Given the description of an element on the screen output the (x, y) to click on. 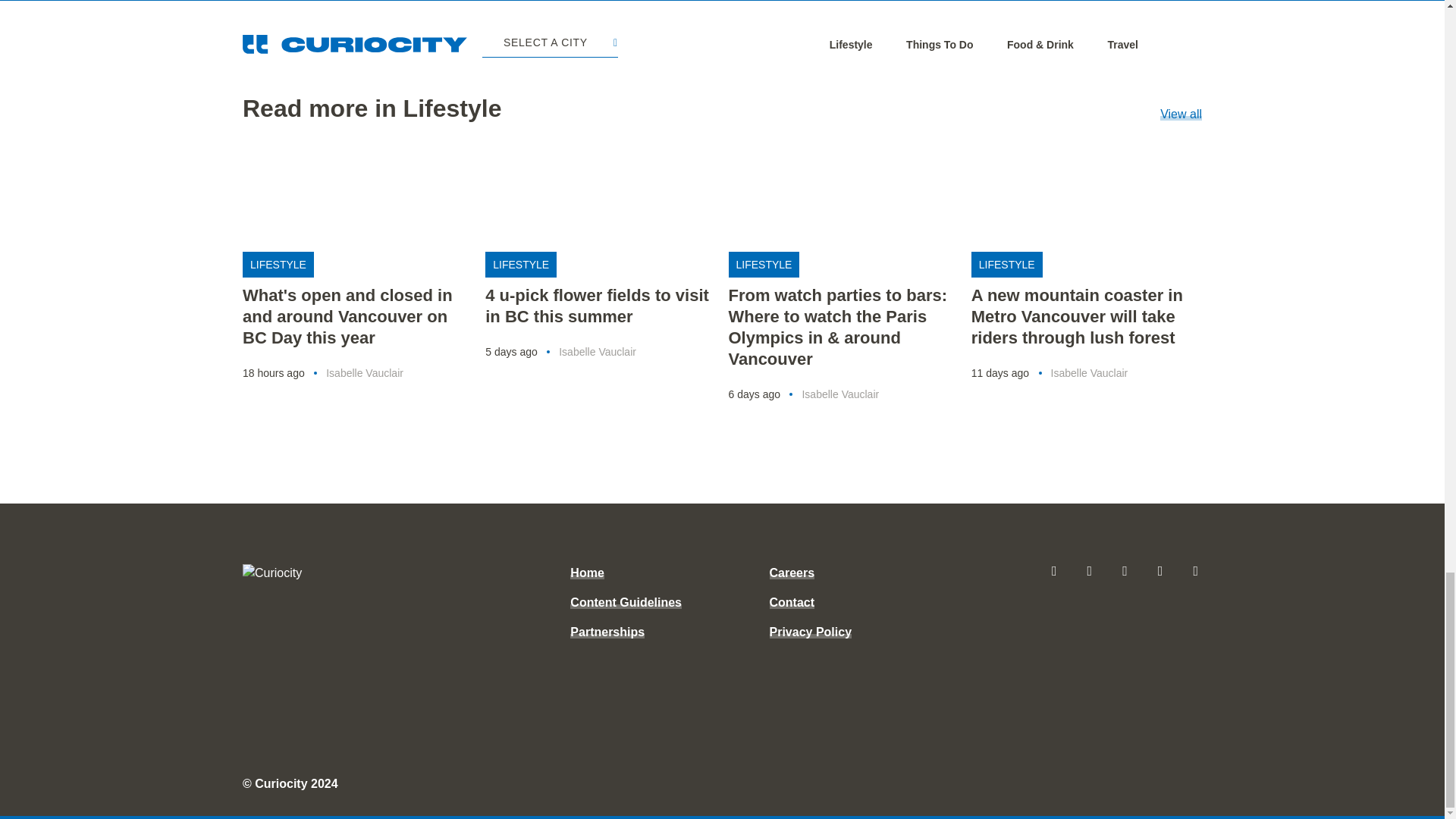
curiocity-primary-logo-white  (334, 573)
